Given the description of an element on the screen output the (x, y) to click on. 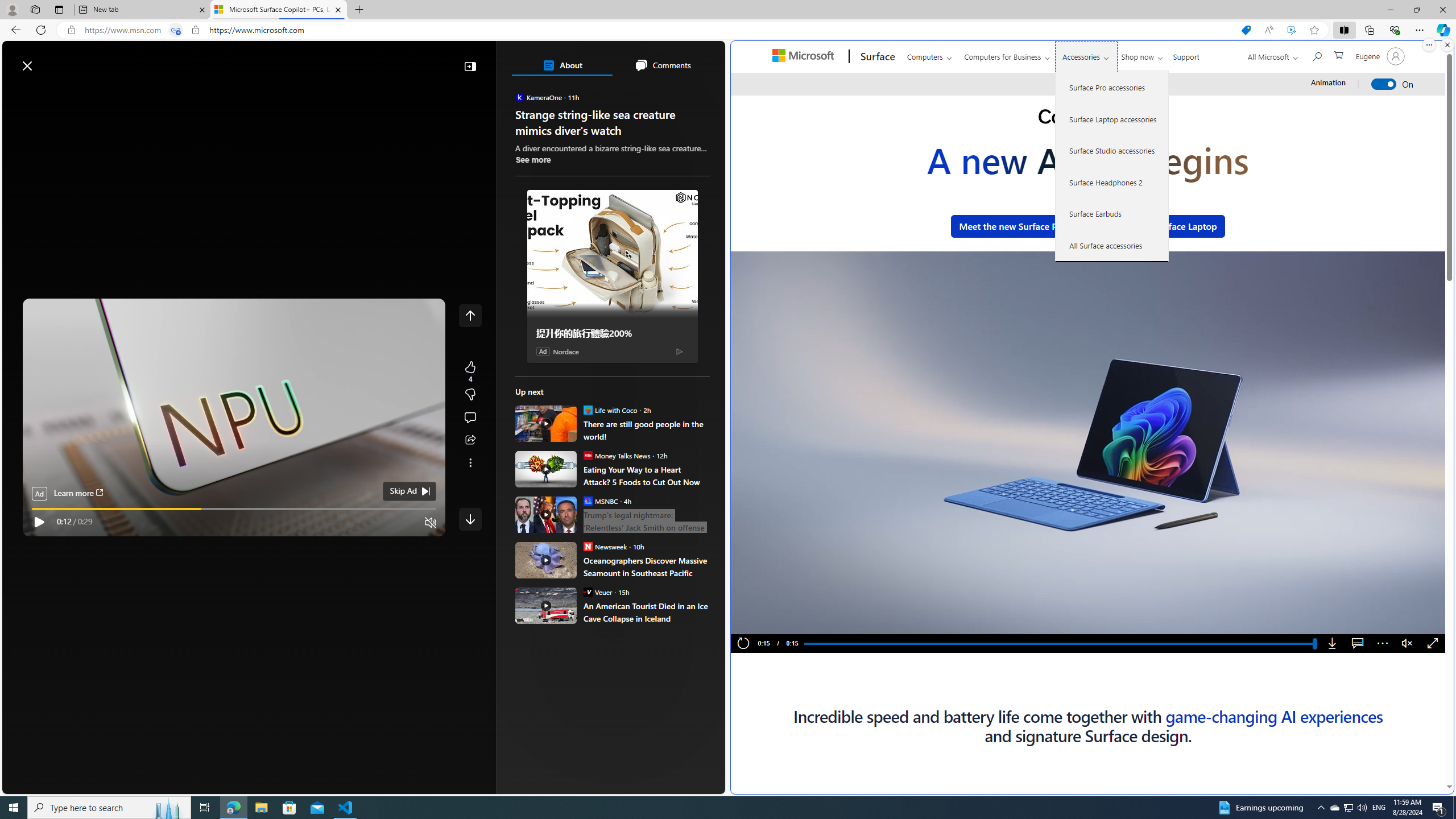
Skip Ad (403, 490)
Learn more (77, 493)
Animation On (1383, 84)
Class: control (469, 518)
Newsweek Newsweek (604, 546)
Meet the new Surface Laptop (1155, 225)
Close split screen. (1447, 45)
Surface Pro accessories (1112, 87)
An American Tourist Died in an Ice Cave Collapse in Iceland (545, 605)
